Given the description of an element on the screen output the (x, y) to click on. 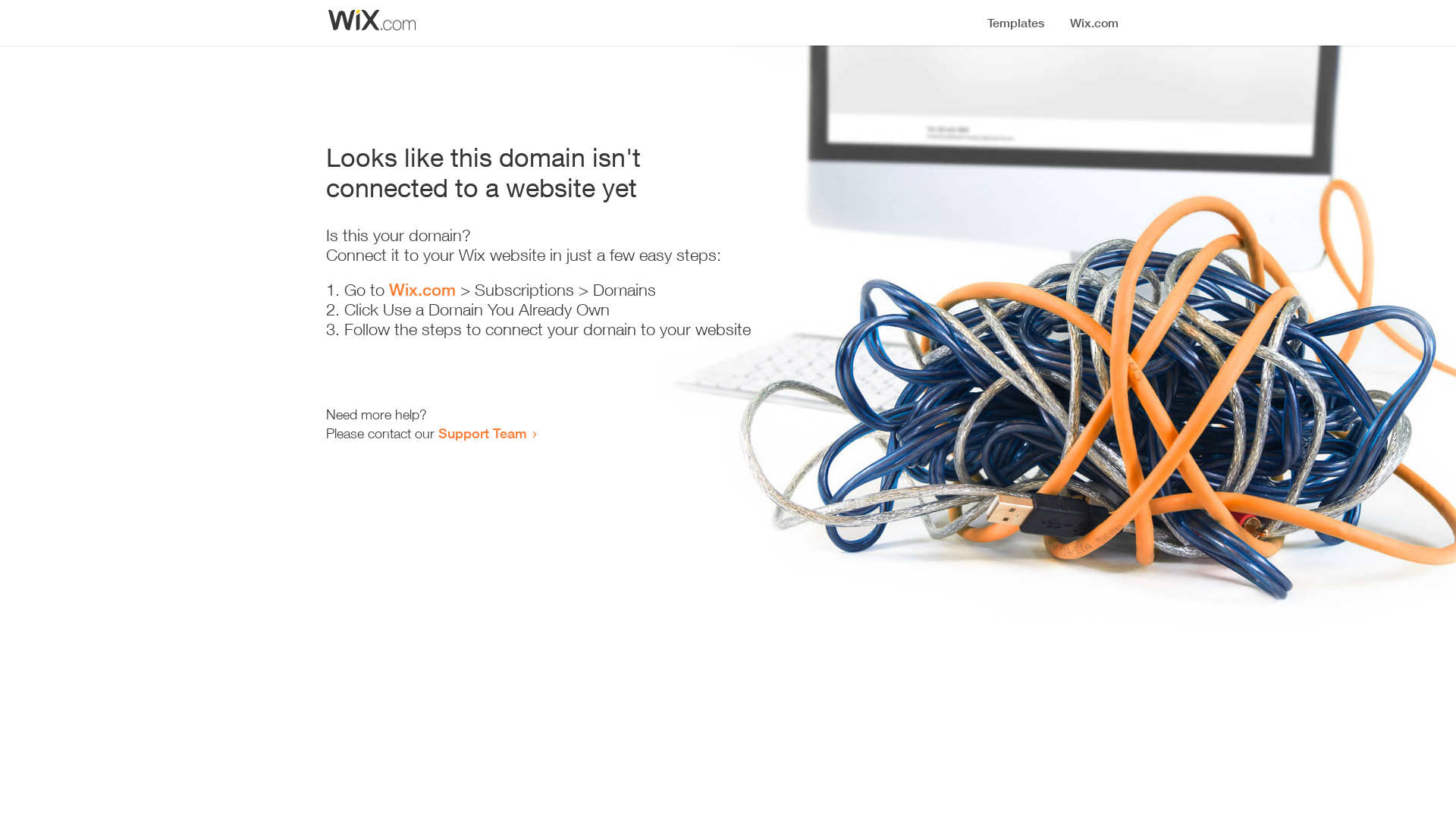
Wix.com Element type: text (422, 289)
Support Team Element type: text (482, 432)
